Given the description of an element on the screen output the (x, y) to click on. 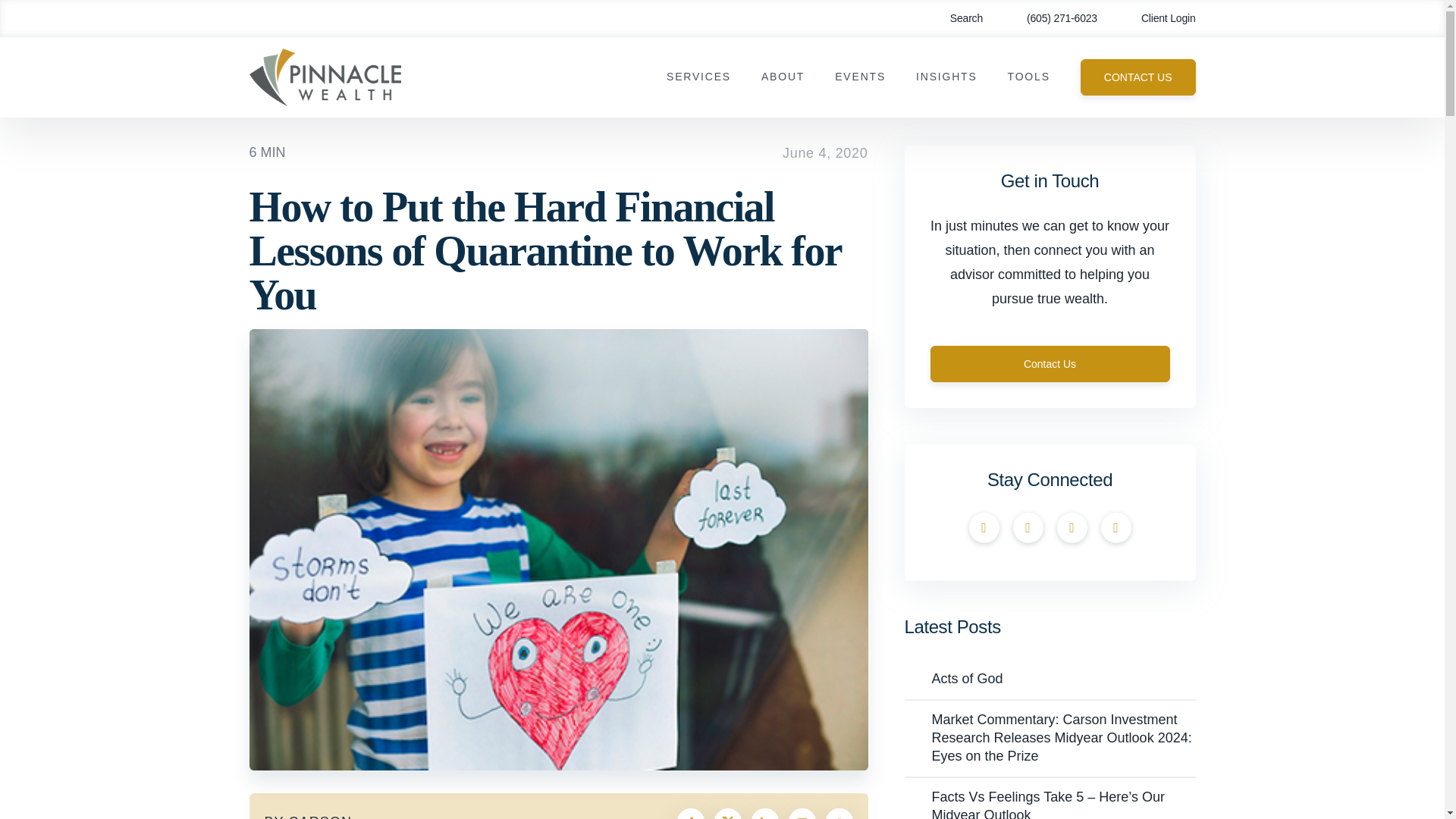
Client Login (1157, 18)
EVENTS (859, 77)
CONTACT US (1137, 76)
INSIGHTS (945, 77)
SERVICES (698, 77)
ABOUT (783, 77)
Search (955, 18)
TOOLS (1028, 77)
